Given the description of an element on the screen output the (x, y) to click on. 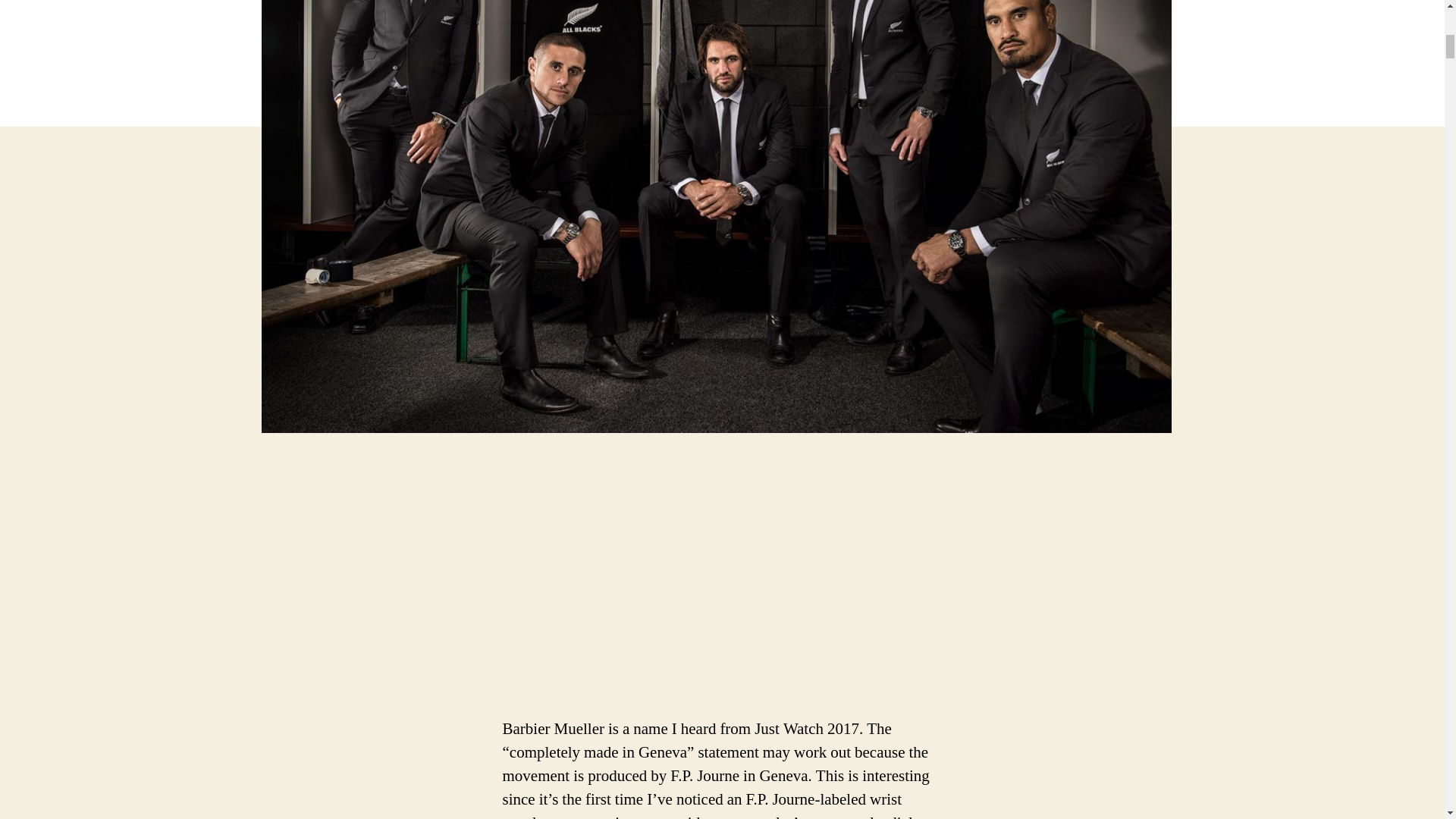
Advertisement (219, 605)
